Given the description of an element on the screen output the (x, y) to click on. 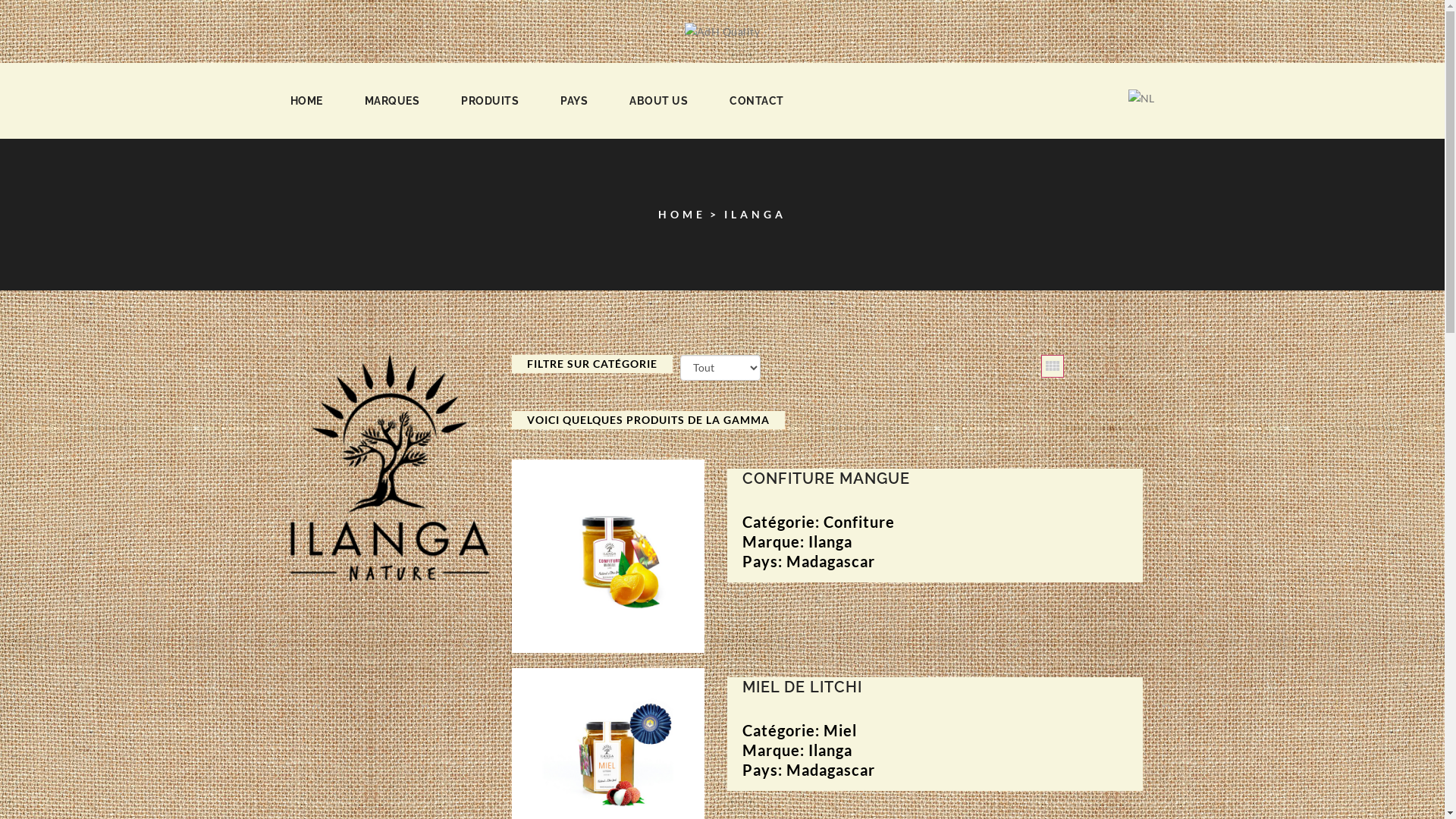
CONFITURE MANGUE Element type: text (942, 484)
MIEL DE LITCHI Element type: text (942, 693)
PRODUITS Element type: text (489, 100)
HOME Element type: text (305, 100)
ABOUT US Element type: text (658, 100)
CONTACT Element type: text (756, 100)
PAYS Element type: text (573, 100)
HOME Element type: text (682, 214)
MARQUES Element type: text (391, 100)
